Given the description of an element on the screen output the (x, y) to click on. 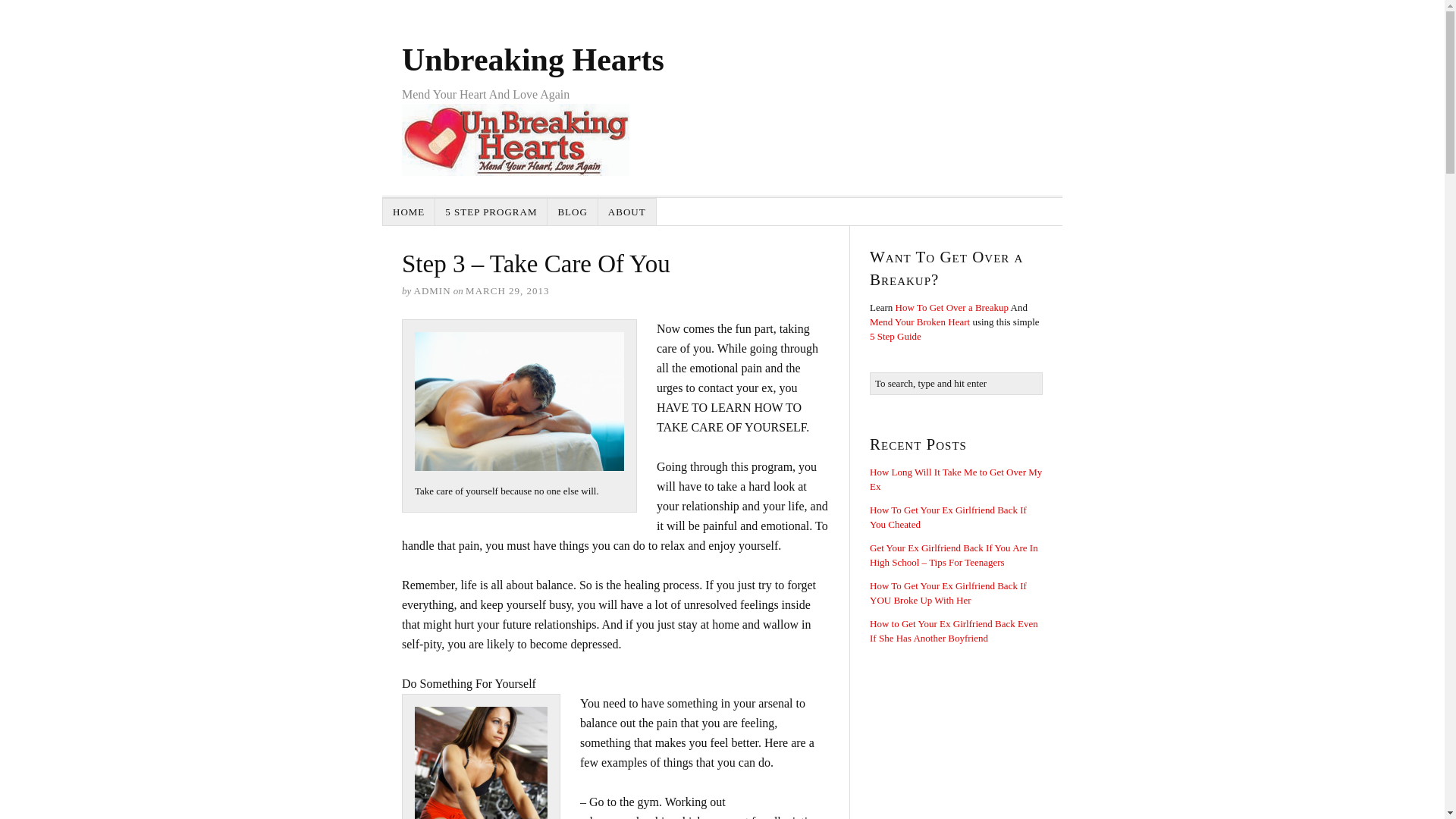
How Long Will It Take Me to Get Over My Ex (955, 479)
How To Get Your Ex Girlfriend Back If YOU Broke Up With Her (947, 592)
Mend Your Broken Heart (919, 321)
2013-03-29 (506, 290)
BLOG (571, 212)
How To Get Your Ex Girlfriend Back If You Cheated (947, 516)
5 STEP PROGRAM (491, 212)
Unbreaking Hearts (532, 59)
HOME (408, 212)
